Given the description of an element on the screen output the (x, y) to click on. 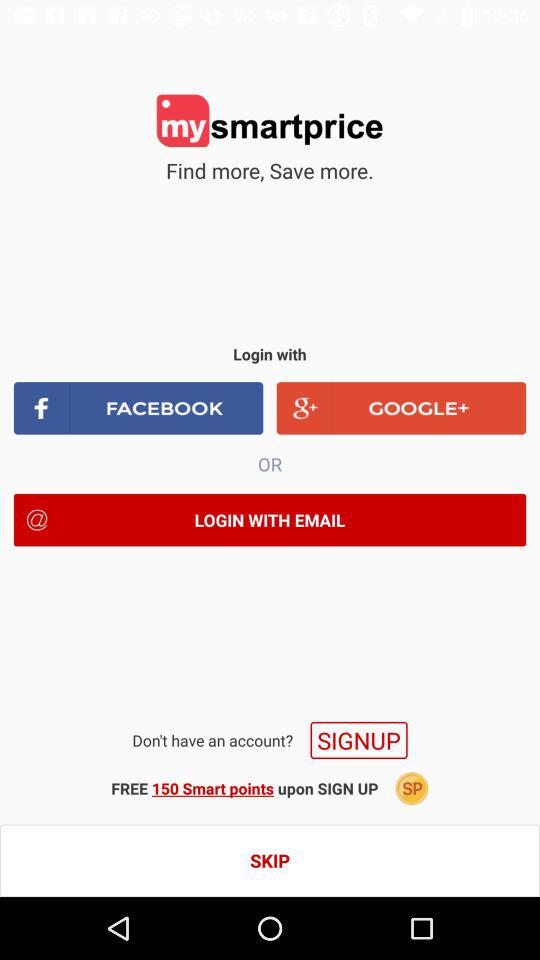
flip to skip (270, 860)
